Given the description of an element on the screen output the (x, y) to click on. 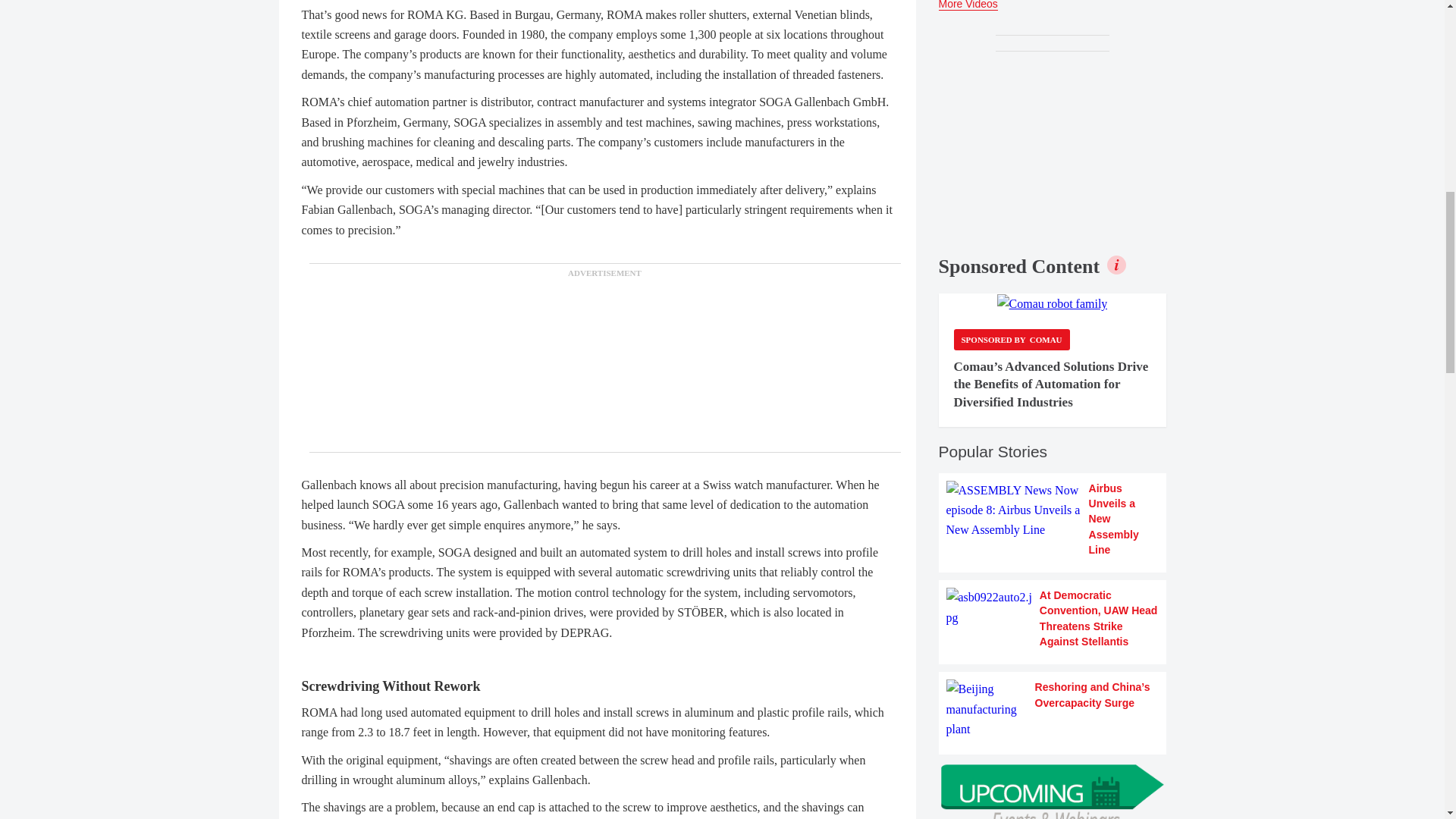
Comau robot family (1052, 303)
Sponsored by Comau (1011, 339)
Airbus Unveils a New Assembly Line (1052, 518)
